Given the description of an element on the screen output the (x, y) to click on. 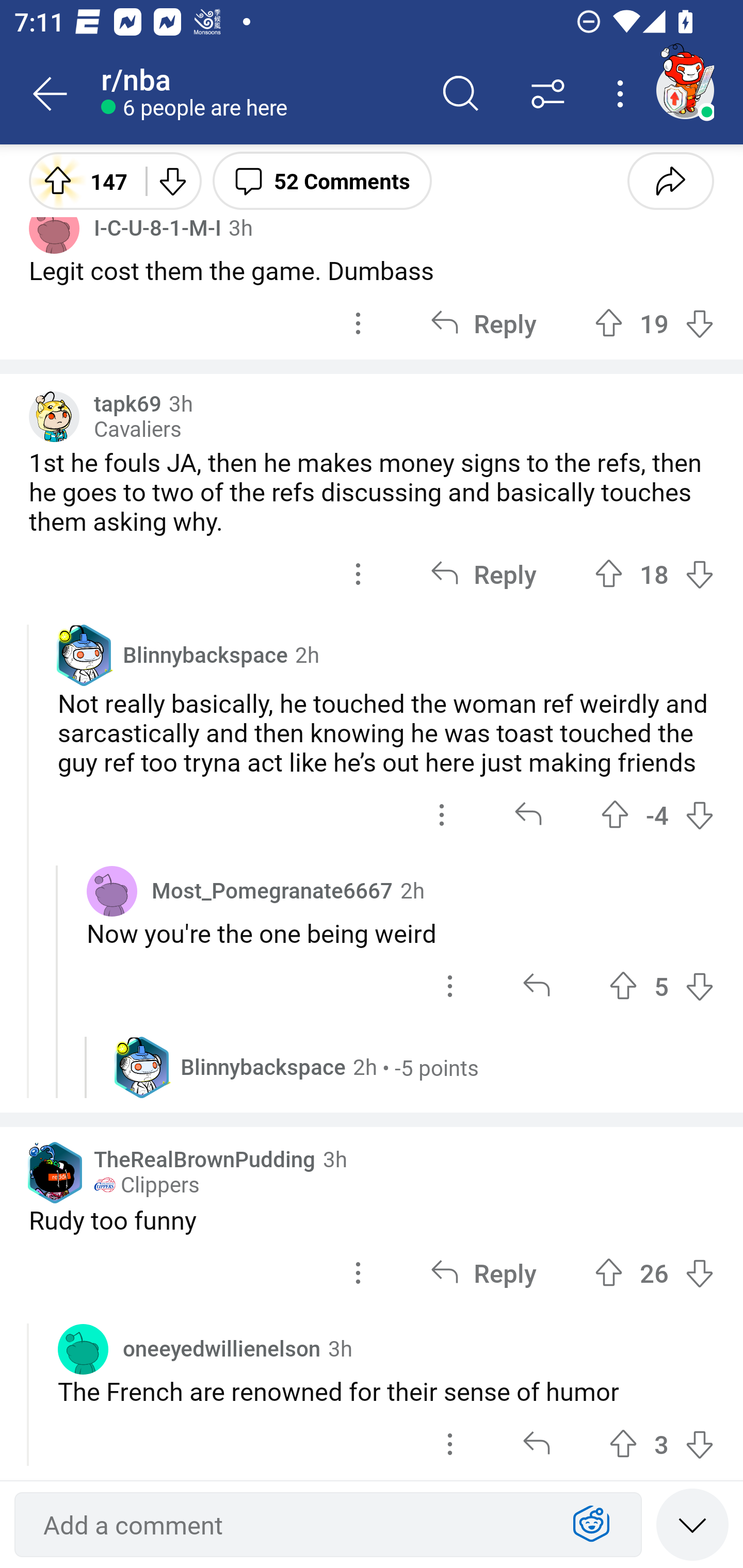
Back (50, 93)
TestAppium002 account (685, 90)
Search comments (460, 93)
Sort comments (547, 93)
More options (623, 93)
r/nba 6 people are here (259, 93)
Upvote 147 (79, 180)
Downvote (171, 180)
52 Comments (321, 180)
Share (670, 180)
Legit cost them the game. Dumbass (371, 270)
options (358, 322)
Reply (483, 322)
Upvote 19 19 votes Downvote (654, 322)
Custom avatar (53, 417)
Cavaliers (137, 429)
options (358, 573)
Reply (483, 573)
Upvote 18 18 votes Downvote (654, 573)
options (441, 815)
Upvote -4 -4 votes Downvote (657, 815)
Avatar (111, 890)
Now you're the one being weird (400, 932)
options (449, 986)
Upvote 5 5 votes Downvote (661, 986)
￼ Clippers (146, 1184)
Rudy too funny (371, 1219)
options (358, 1273)
Reply (483, 1273)
Upvote 26 26 votes Downvote (654, 1273)
Avatar (82, 1348)
The French are renowned for their sense of humor (385, 1390)
options (449, 1444)
Upvote 3 3 votes Downvote (661, 1444)
Speed read (692, 1524)
Add a comment (291, 1524)
Show Expressions (590, 1524)
